Given the description of an element on the screen output the (x, y) to click on. 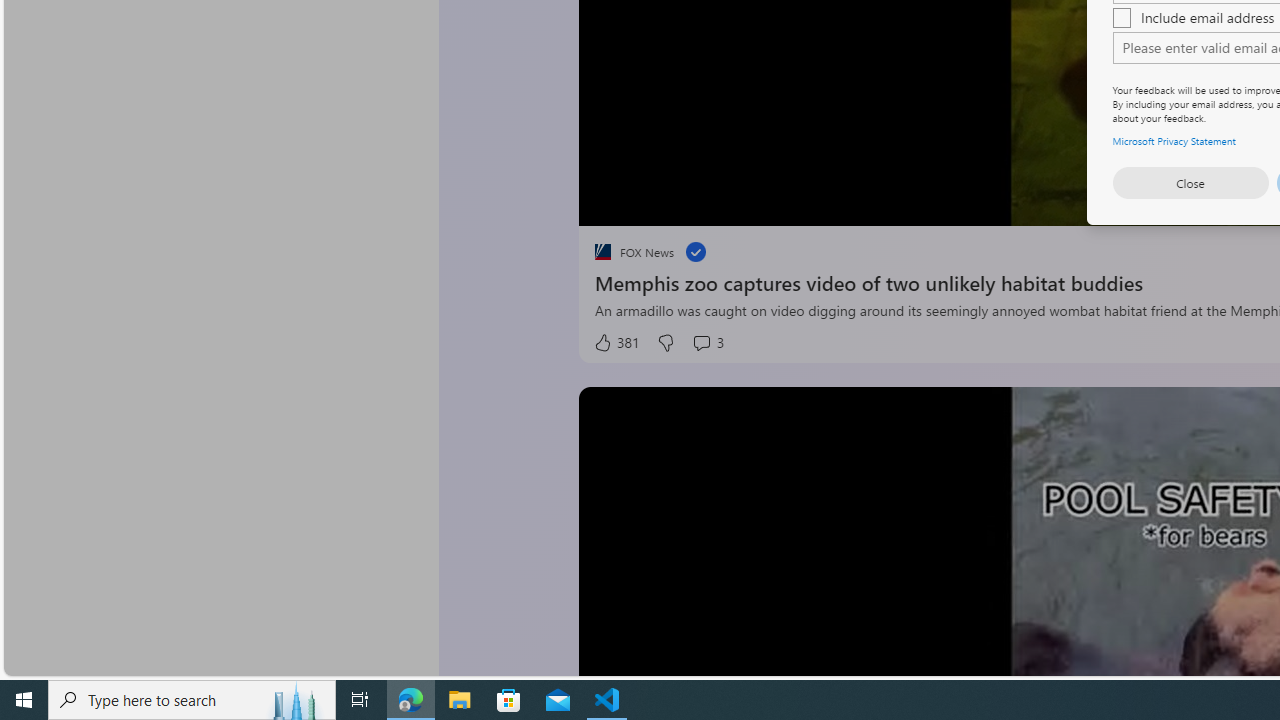
Microsoft Privacy Statement (1174, 139)
381 Like (615, 343)
Seek Back (648, 203)
Pause (607, 203)
Seek Forward (688, 203)
placeholder FOX News (633, 252)
placeholder (601, 252)
View comments 3 Comment (707, 343)
